Given the description of an element on the screen output the (x, y) to click on. 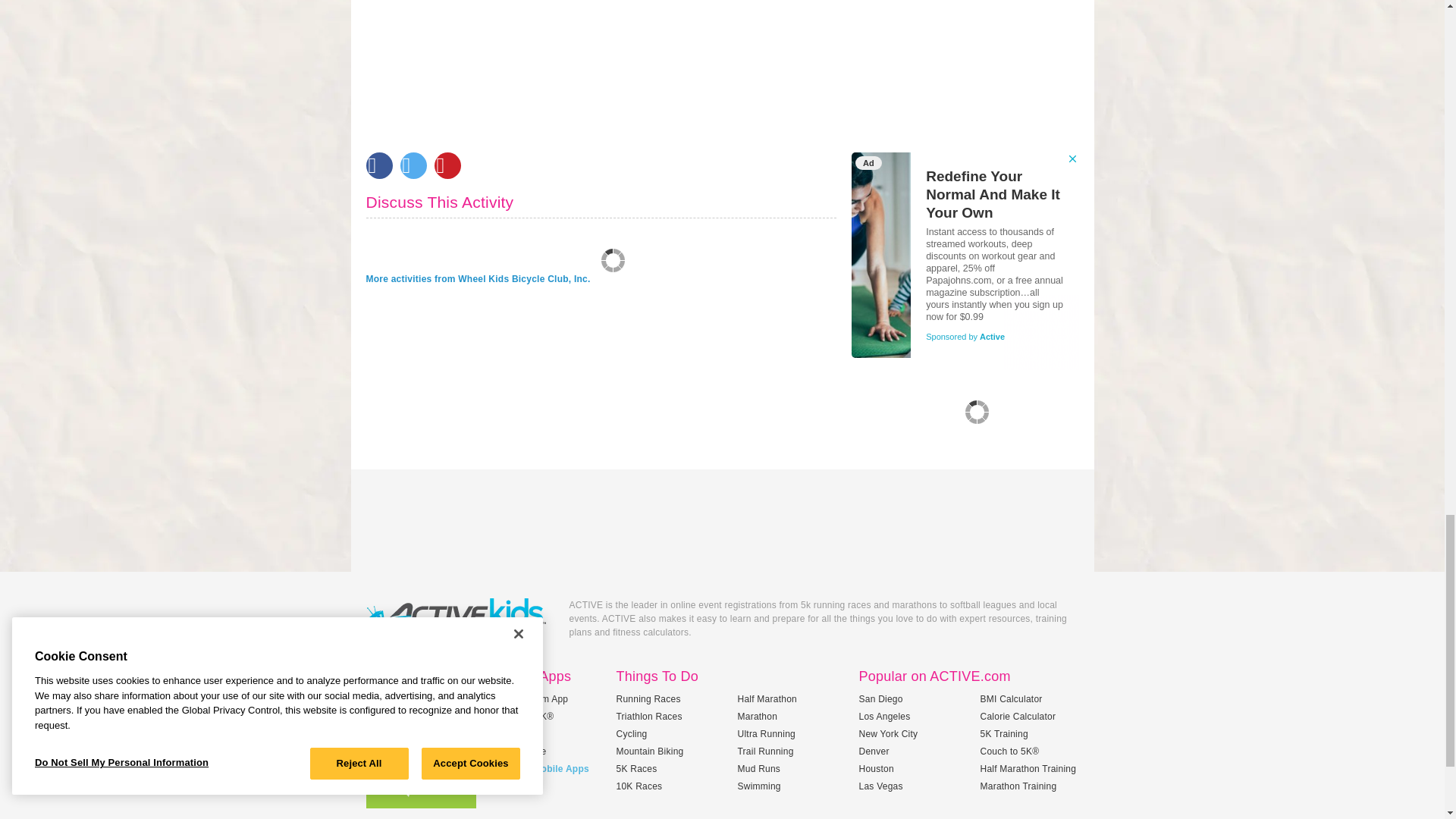
Share on Twitter (413, 165)
Share on Facebook (378, 165)
Share on Pinterest (446, 165)
3rd party ad content (964, 261)
